Given the description of an element on the screen output the (x, y) to click on. 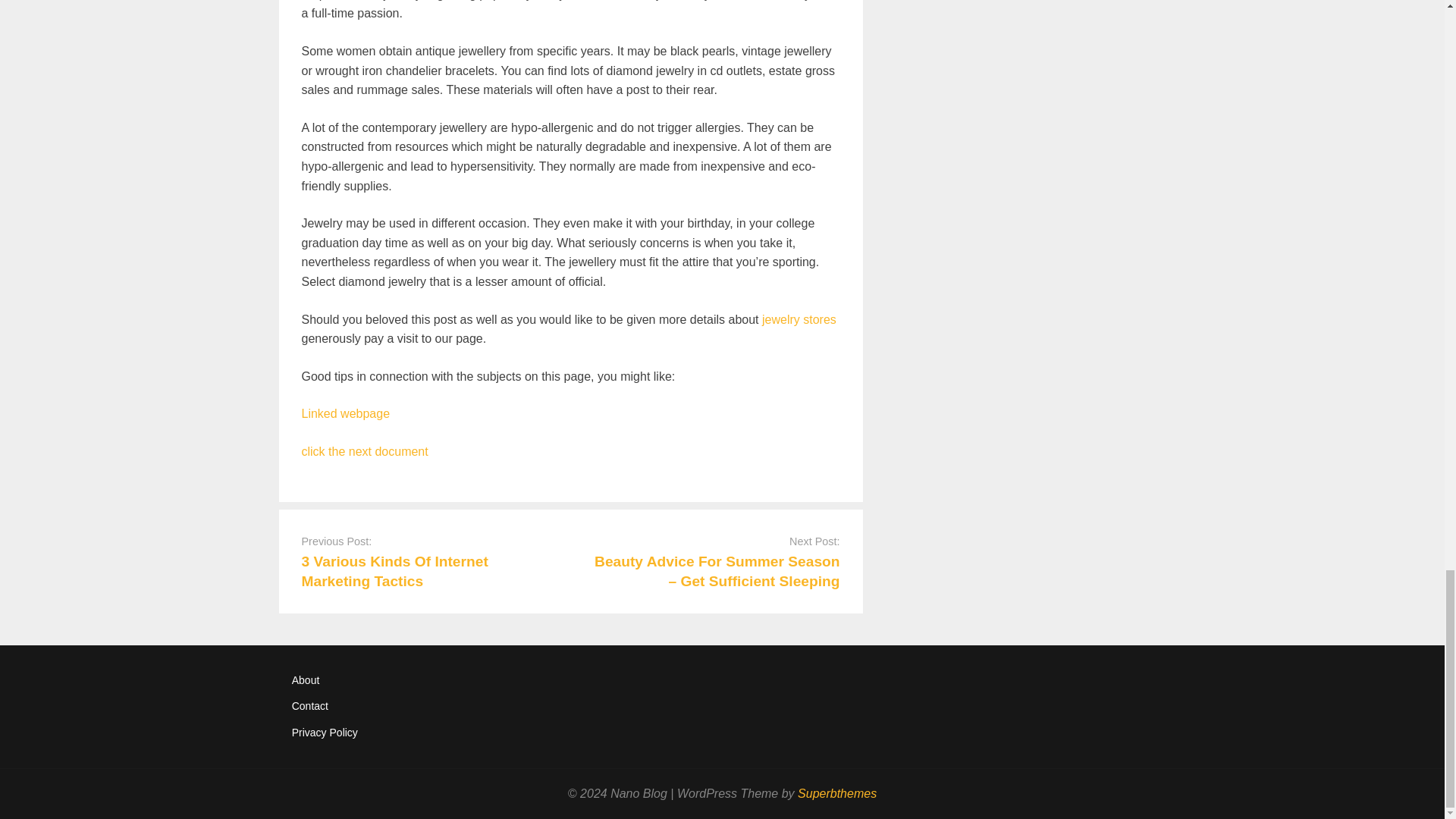
3 Various Kinds Of Internet Marketing Tactics (394, 570)
Contact (310, 705)
jewelry stores (798, 318)
click the next document (364, 451)
Privacy Policy (325, 732)
About (306, 680)
Linked webpage (345, 413)
Superbthemes (836, 793)
